Given the description of an element on the screen output the (x, y) to click on. 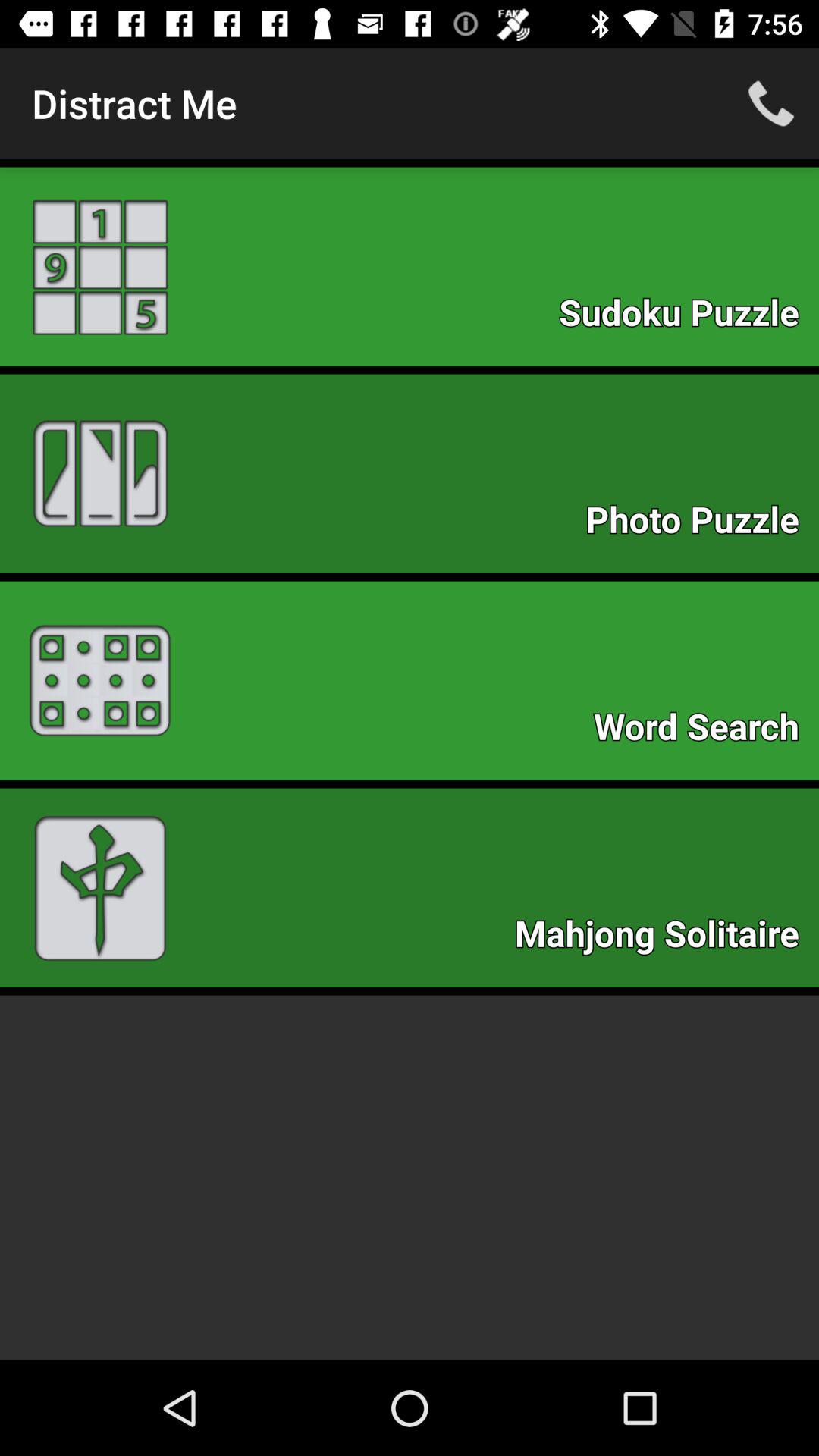
click the item above the photo puzzle item (686, 316)
